Given the description of an element on the screen output the (x, y) to click on. 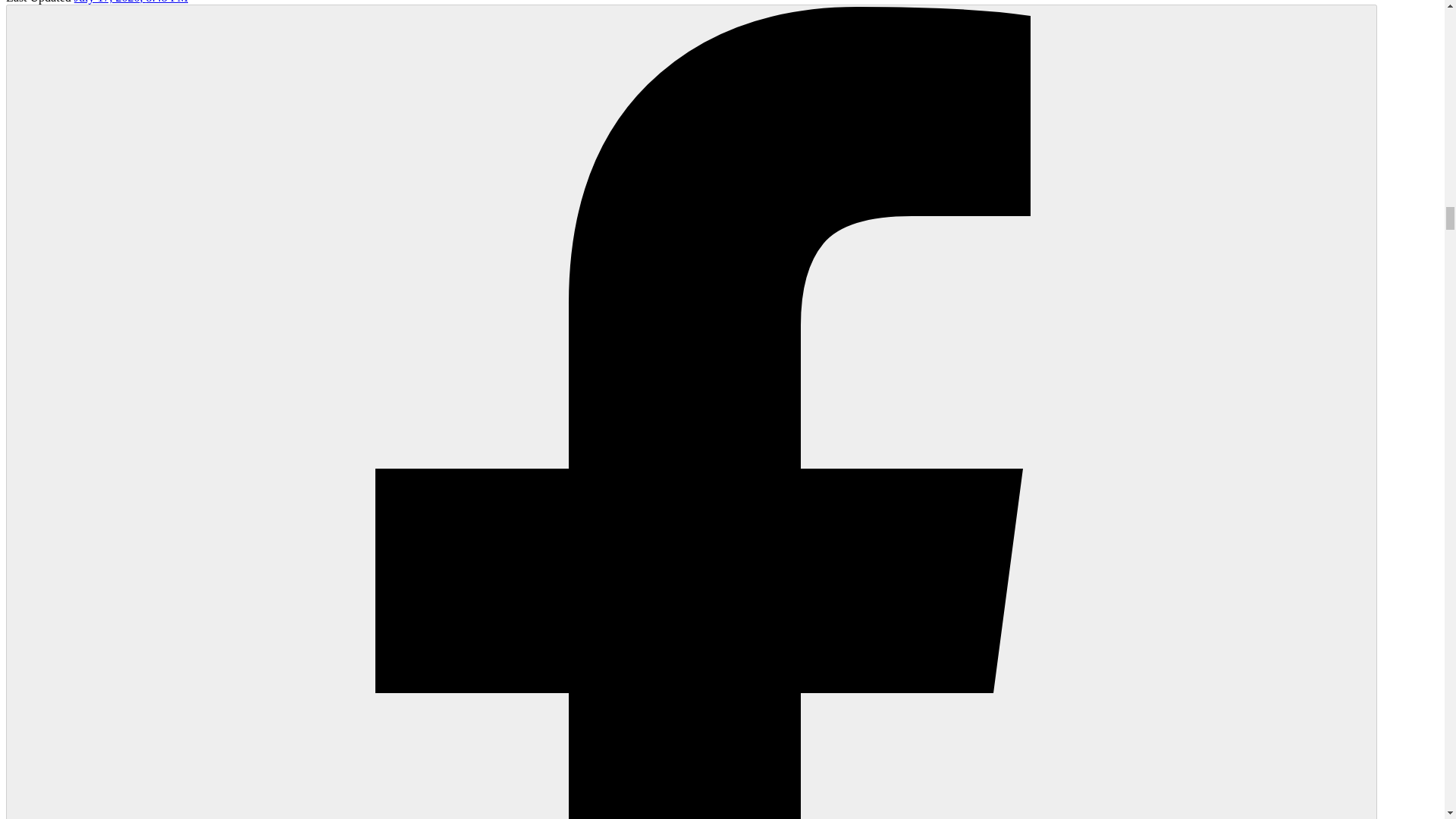
July 17, 2020, 8:48 PM (130, 2)
